Given the description of an element on the screen output the (x, y) to click on. 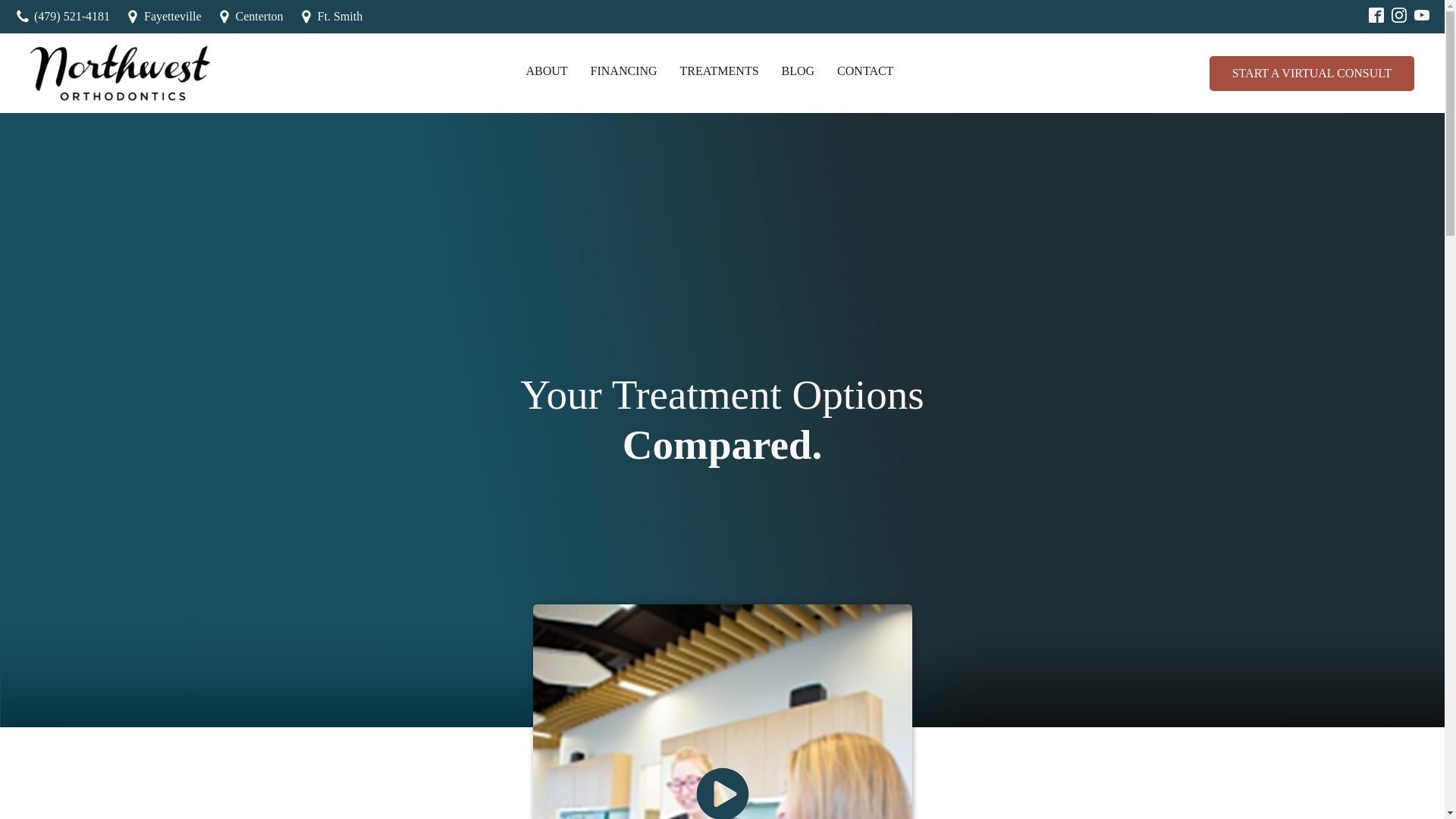
Centerton (249, 16)
Fayetteville (163, 16)
CONTACT (864, 71)
ABOUT (545, 71)
TREATMENTS (719, 71)
Ft. Smith (330, 16)
BLOG (798, 71)
FINANCING (623, 71)
